Given the description of an element on the screen output the (x, y) to click on. 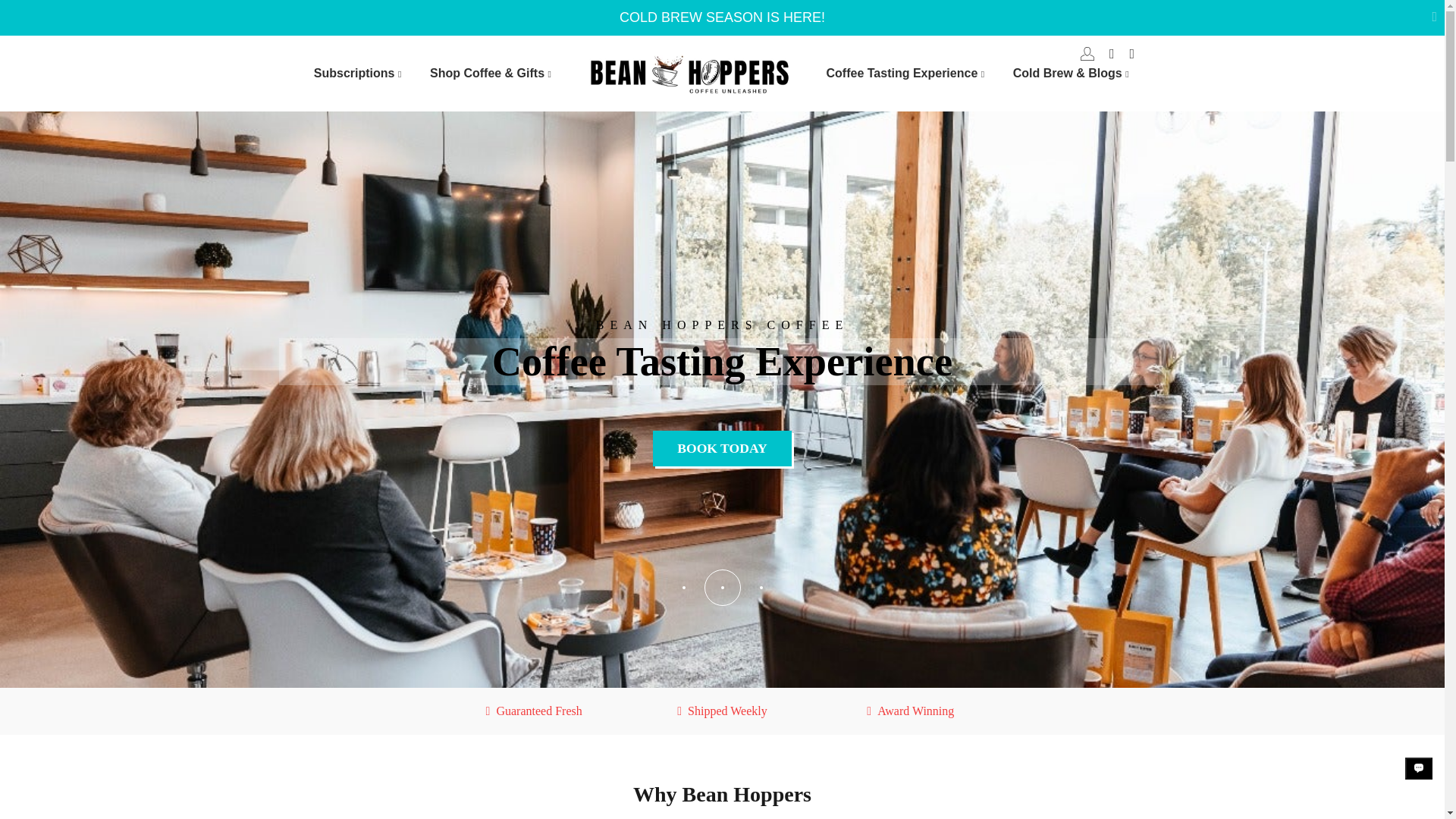
COLD BREW SEASON IS HERE! (721, 18)
My Account  (1087, 53)
Coffee Tasting Experience (907, 73)
Subscriptions (359, 73)
